Given the description of an element on the screen output the (x, y) to click on. 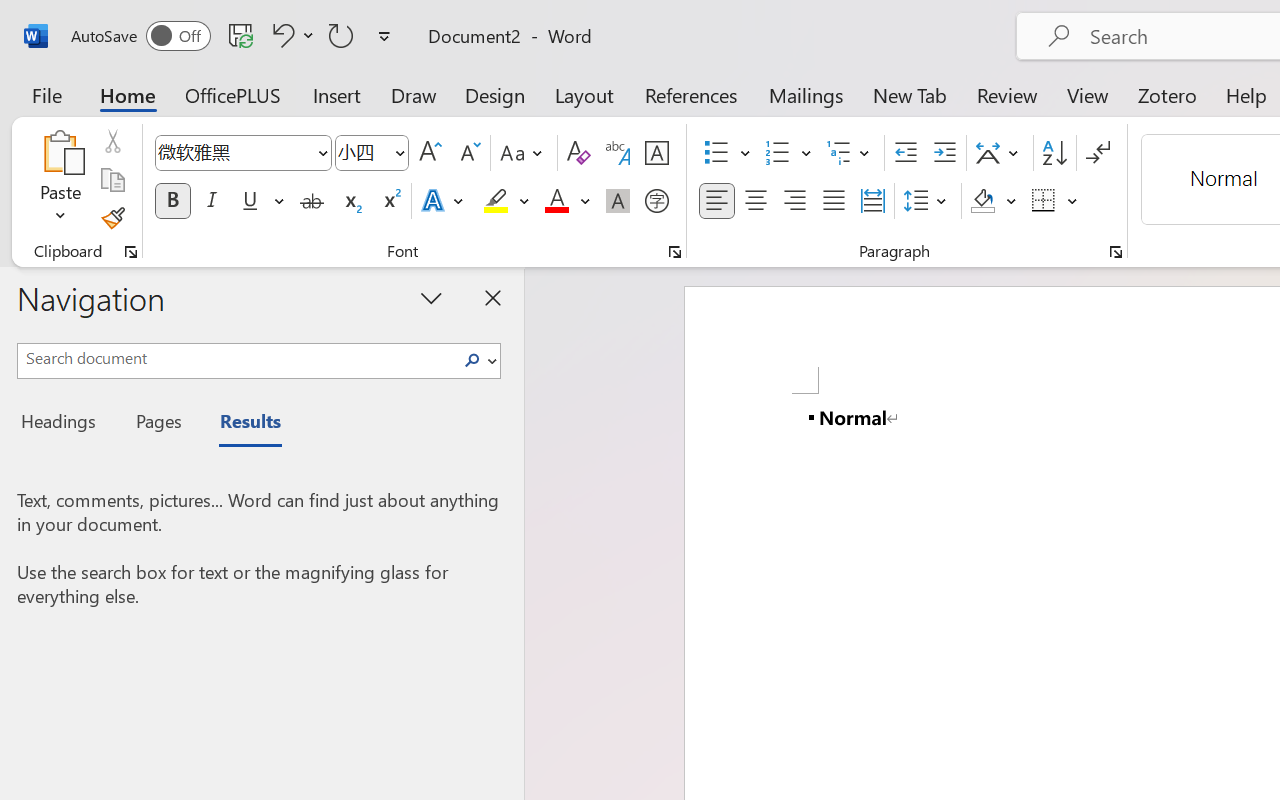
Underline (250, 201)
Results (240, 424)
Task Pane Options (431, 297)
Asian Layout (1000, 153)
Review (1007, 94)
Home (127, 94)
Font Size (362, 152)
Layout (584, 94)
Clear Formatting (578, 153)
Office Clipboard... (131, 252)
